Given the description of an element on the screen output the (x, y) to click on. 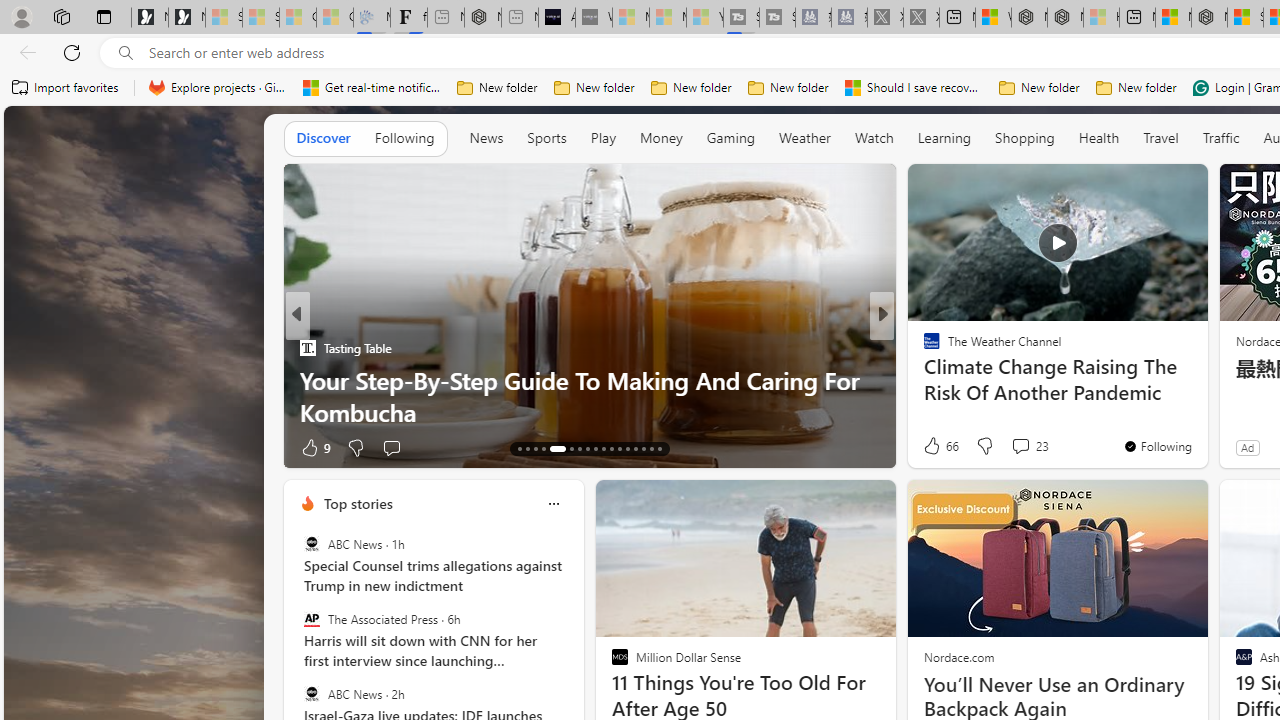
Lifehacker (923, 380)
View comments 23 Comment (1029, 446)
AutomationID: tab-22 (603, 448)
AutomationID: tab-51 (650, 448)
You're following The Weather Channel (1157, 445)
AutomationID: tab-50 (642, 448)
Stacker (923, 347)
